Given the description of an element on the screen output the (x, y) to click on. 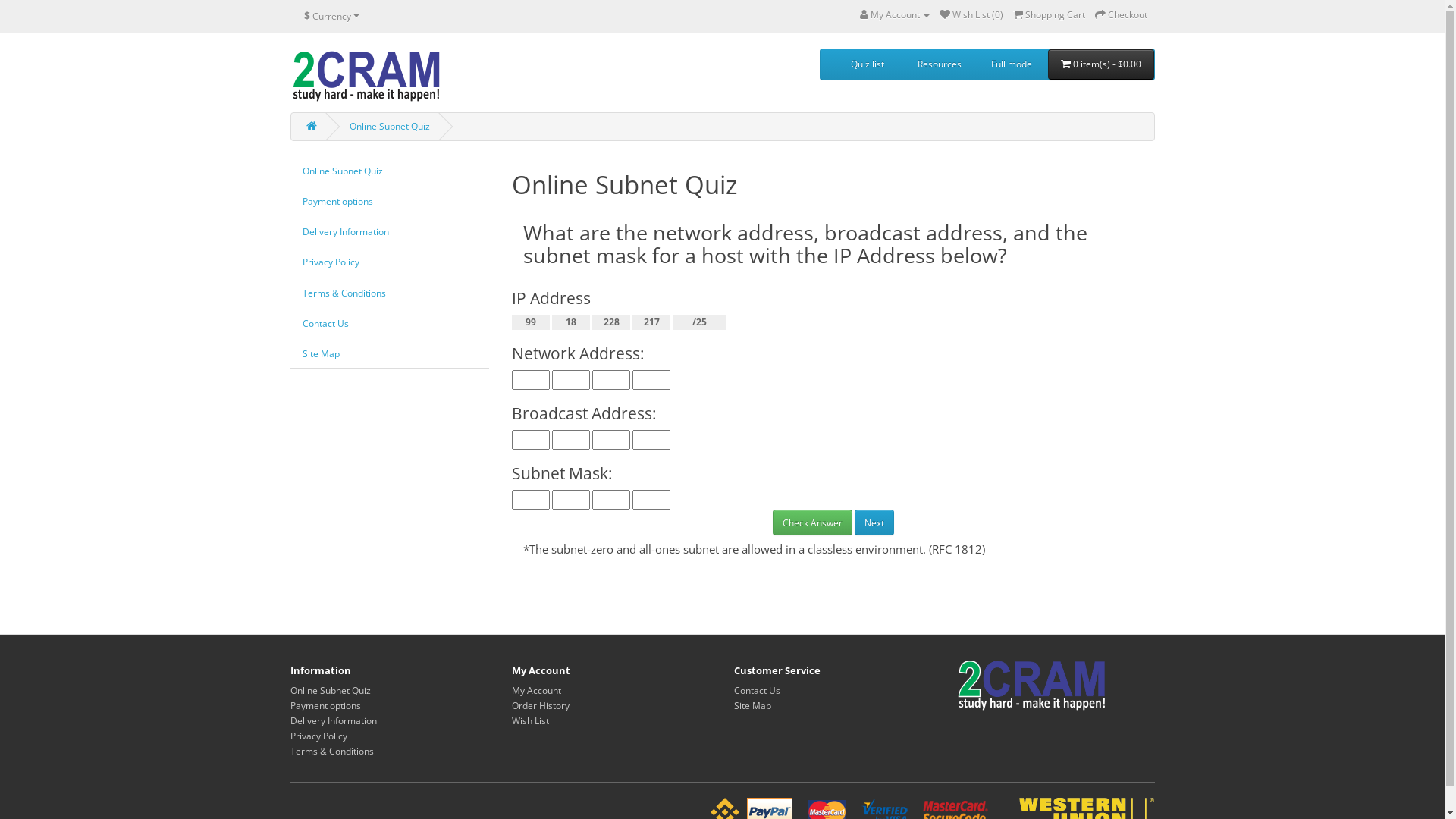
Resources Element type: text (939, 64)
Quiz list Element type: text (867, 64)
Payment options Element type: text (388, 201)
2Cram Practice Questions Element type: hover (365, 76)
My Account Element type: text (536, 690)
Terms & Conditions Element type: text (388, 292)
Site Map Element type: text (752, 705)
Order History Element type: text (540, 705)
Payment options Element type: text (324, 705)
Delivery Information Element type: text (332, 720)
Contact Us Element type: text (388, 323)
Privacy Policy Element type: text (317, 735)
Terms & Conditions Element type: text (331, 750)
Online Subnet Quiz Element type: text (388, 170)
Checkout Element type: text (1121, 14)
$ Currency Element type: text (331, 15)
Wish List Element type: text (530, 720)
Full mode Element type: text (1011, 64)
Shopping Cart Element type: text (1049, 14)
Wish List (0) Element type: text (970, 14)
Delivery Information Element type: text (388, 231)
Site Map Element type: text (388, 353)
Online Subnet Quiz Element type: text (388, 125)
My Account Element type: text (894, 14)
Contact Us Element type: text (757, 690)
0 item(s) - $0.00 Element type: text (1101, 64)
Privacy Policy Element type: text (388, 261)
Online Subnet Quiz Element type: text (329, 690)
